Given the description of an element on the screen output the (x, y) to click on. 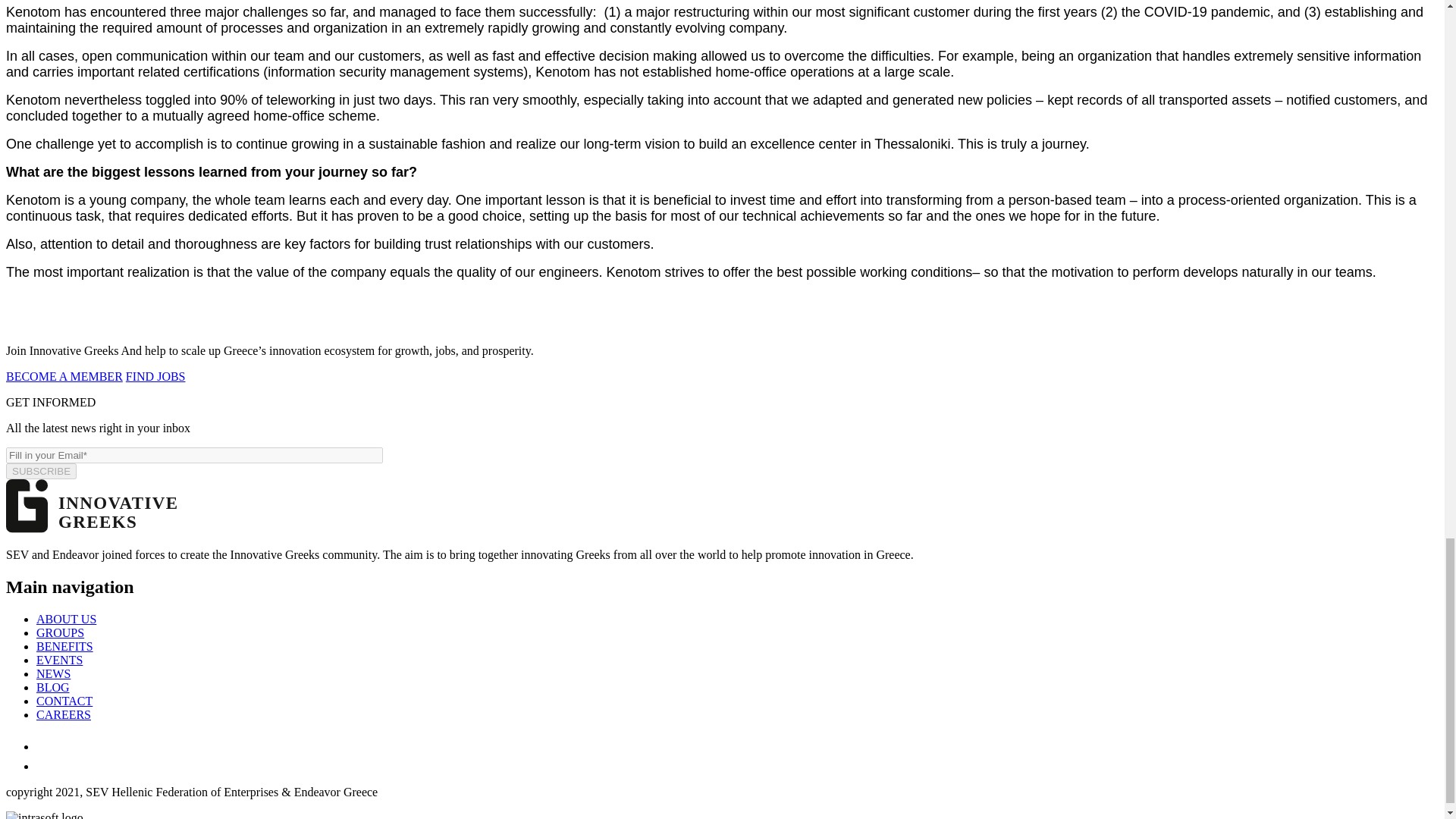
CONTACT (64, 700)
SUBSCRIBE (41, 471)
GROUPS (60, 632)
INNOVATIVE GREEKS (92, 528)
CAREERS (63, 714)
BLOG (52, 686)
NEWS (52, 673)
SUBSCRIBE (41, 471)
ABOUT US (66, 618)
INNOVATIVE GREEKS (92, 506)
FIND JOBS (155, 376)
BENEFITS (64, 645)
BECOME A MEMBER (63, 376)
Careers page of site (63, 714)
EVENTS (59, 659)
